Given the description of an element on the screen output the (x, y) to click on. 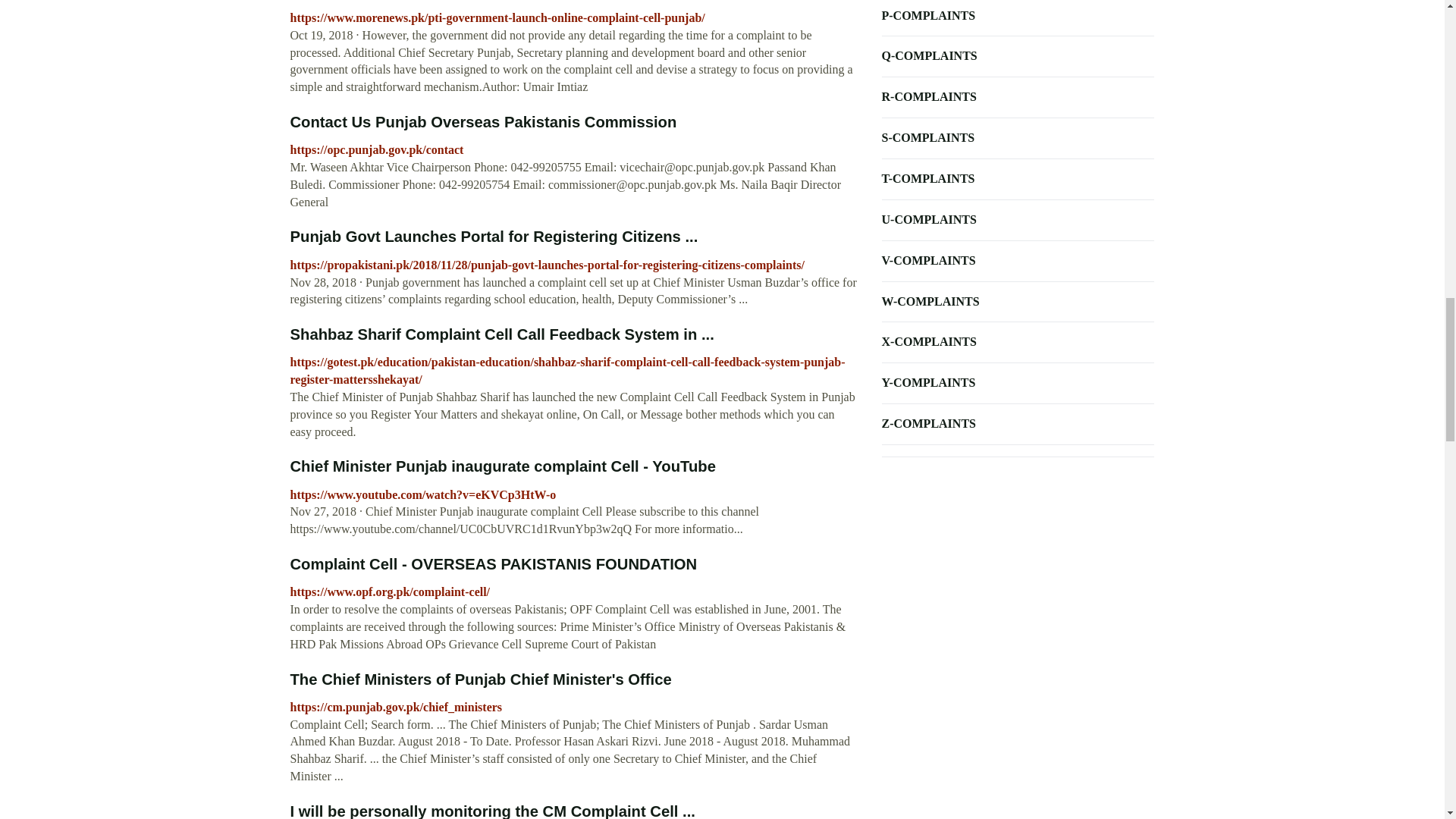
The Chief Ministers of Punjab Chief Minister's Office (480, 678)
Contact Us Punjab Overseas Pakistanis Commission (483, 121)
Shahbaz Sharif Complaint Cell Call Feedback System in ... (501, 334)
Complaint Cell - OVERSEAS PAKISTANIS FOUNDATION (493, 564)
I will be personally monitoring the CM Complaint Cell ... (491, 811)
Chief Minister Punjab inaugurate complaint Cell - YouTube (501, 466)
Punjab Govt Launches Portal for Registering Citizens ... (493, 236)
